Given the description of an element on the screen output the (x, y) to click on. 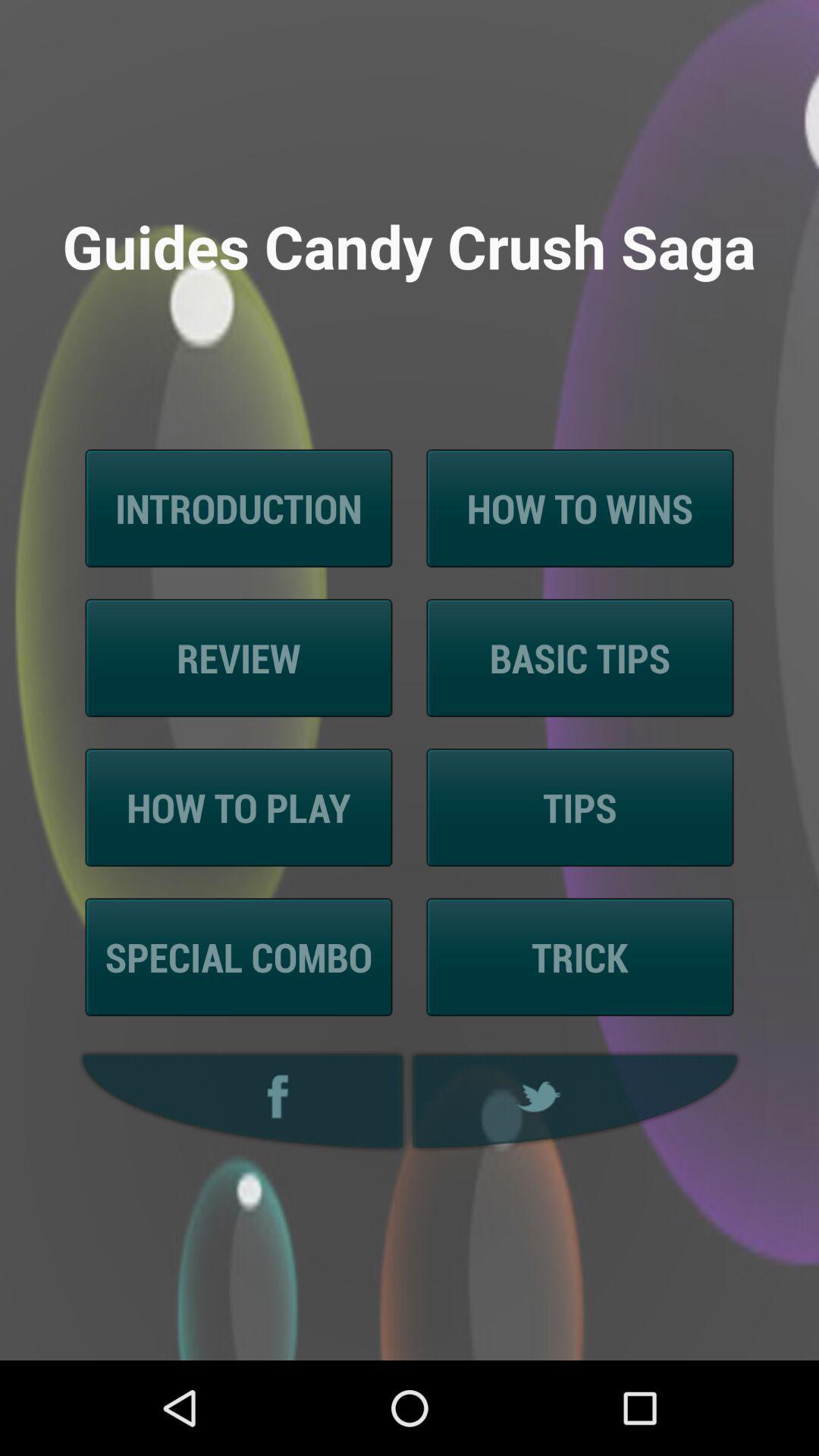
visit twitter (577, 1101)
